Given the description of an element on the screen output the (x, y) to click on. 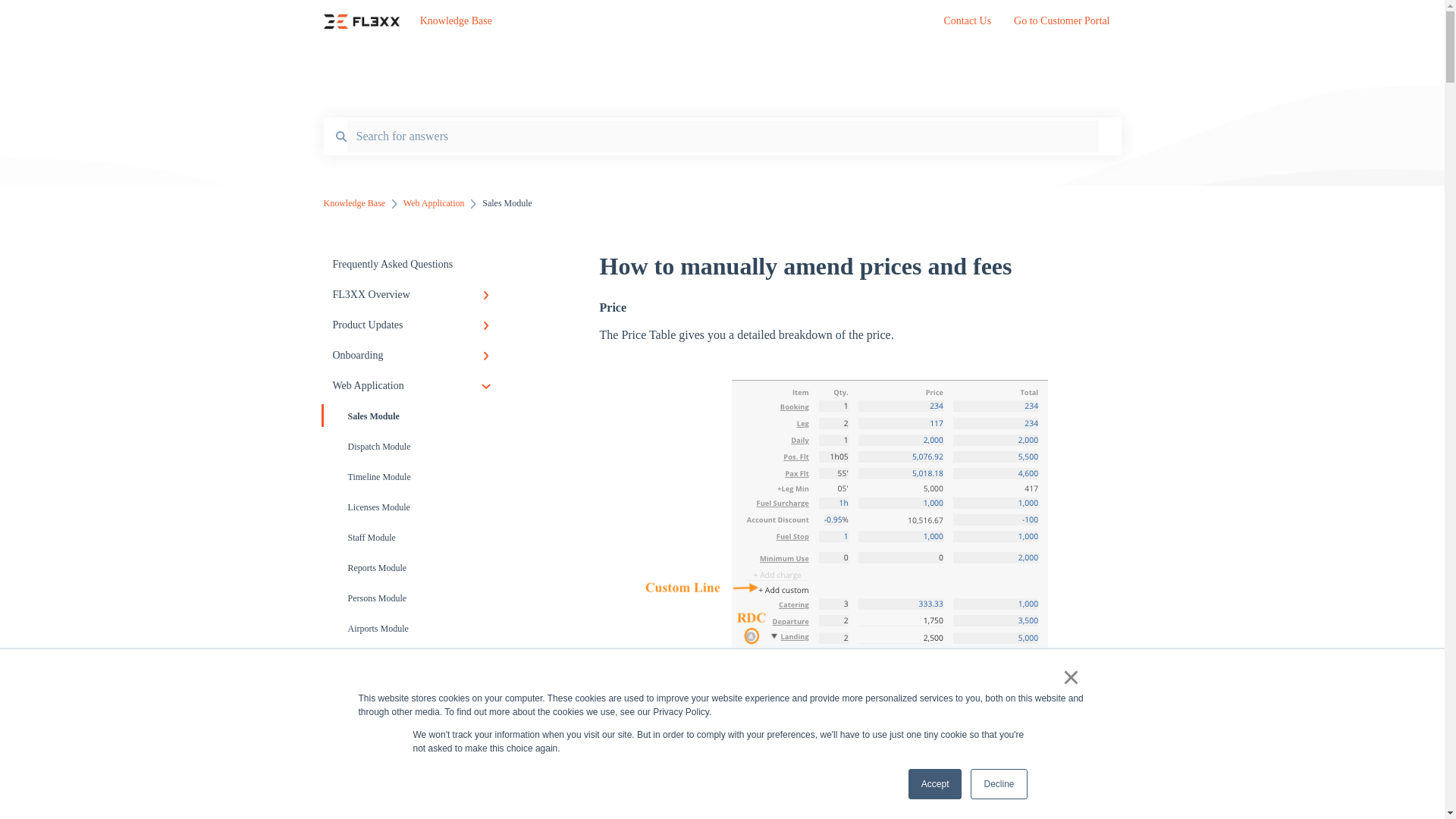
Accept (935, 784)
Decline (998, 784)
Contact Us (967, 25)
Go to Customer Portal (1061, 25)
Knowledge Base (659, 21)
